Given the description of an element on the screen output the (x, y) to click on. 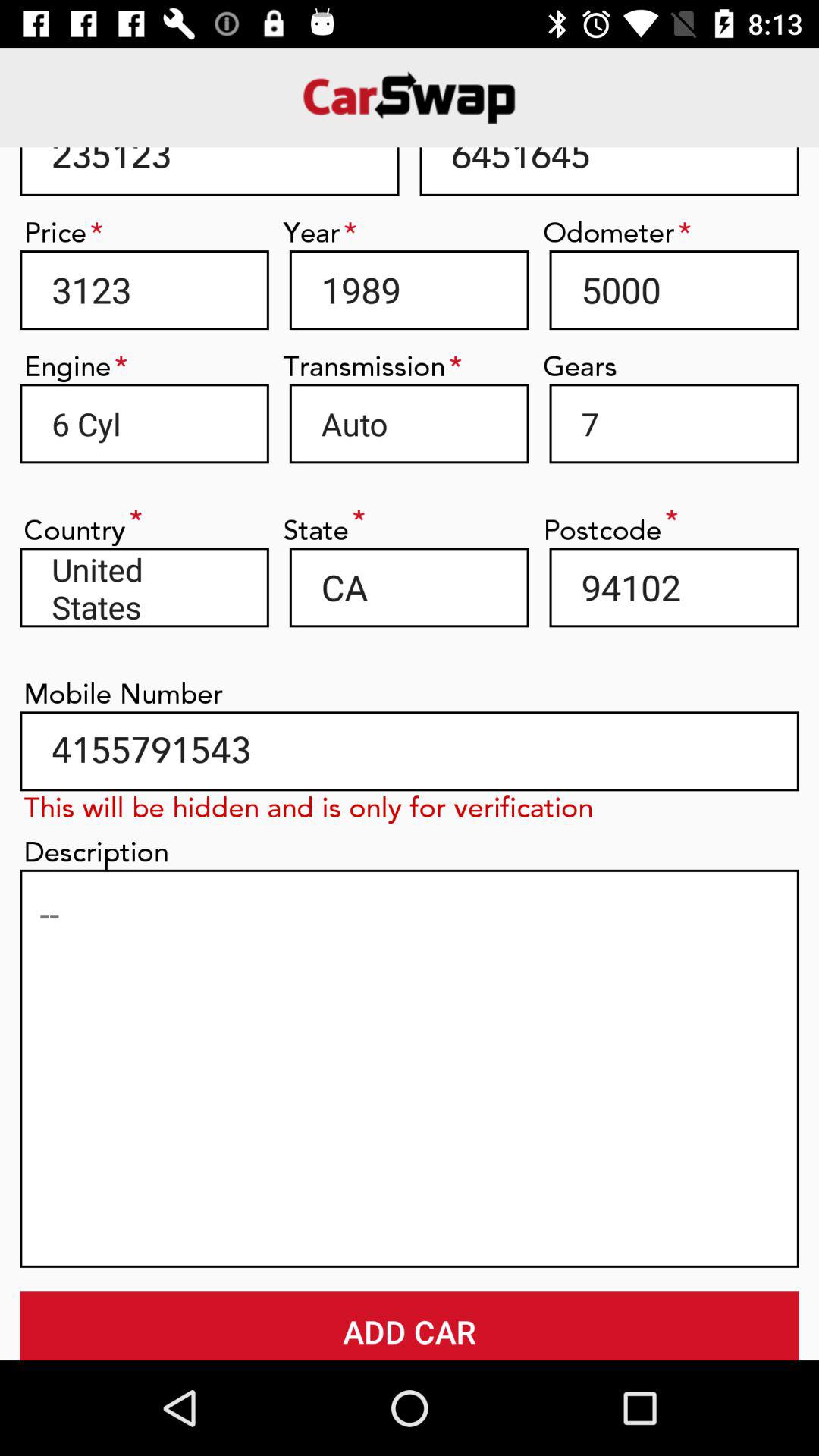
select 1989 icon (408, 289)
